Given the description of an element on the screen output the (x, y) to click on. 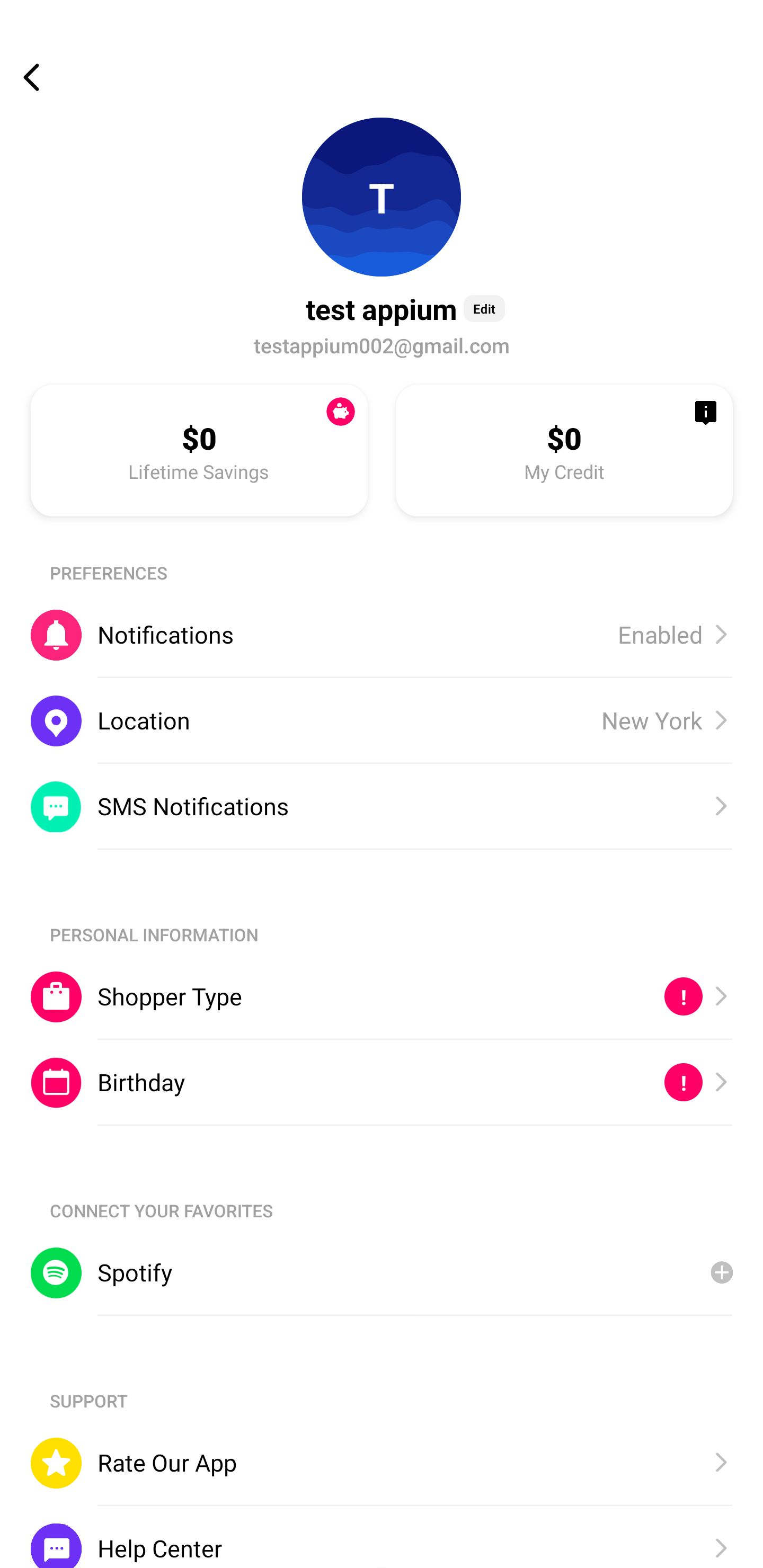
T (381, 196)
Edit (484, 307)
$0, Lifetime Savings $0 Lifetime Savings (198, 449)
$0, My Credit $0 My Credit (563, 449)
Location, New York Location New York (381, 720)
SMS Notifications,    SMS Notifications    (381, 806)
Shopper Type,   , ! Shopper Type    ! (381, 996)
Birthday,   , ! Birthday    ! (381, 1082)
Spotify,    Spotify    (381, 1272)
Rate Our App,    Rate Our App    (381, 1462)
Help Center,    Help Center    (381, 1536)
